Given the description of an element on the screen output the (x, y) to click on. 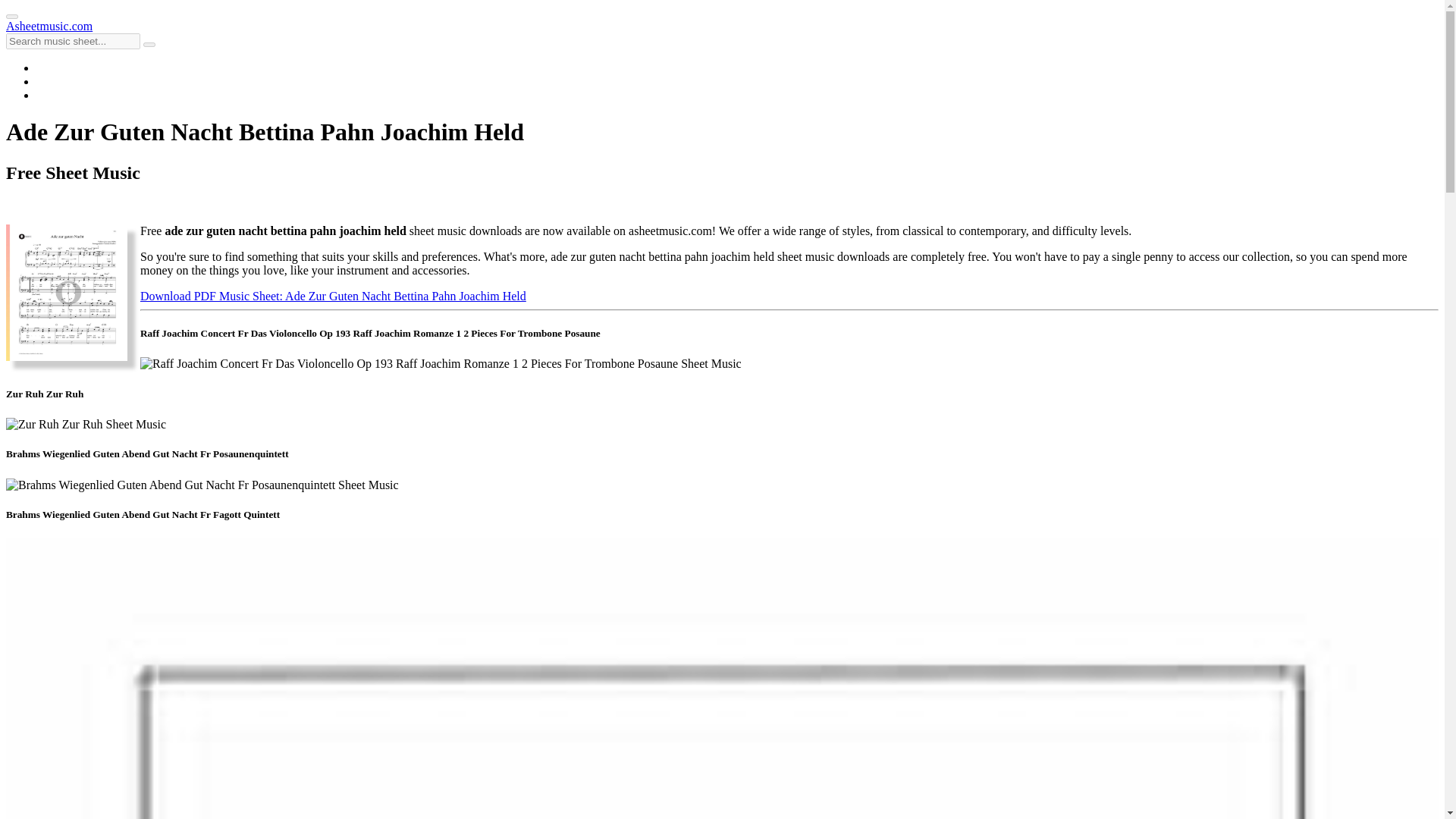
Download Ade Zur Guten Nacht Bettina Pahn Joachim Held (332, 295)
Asheetmusic.com (49, 25)
Search (148, 44)
